Given the description of an element on the screen output the (x, y) to click on. 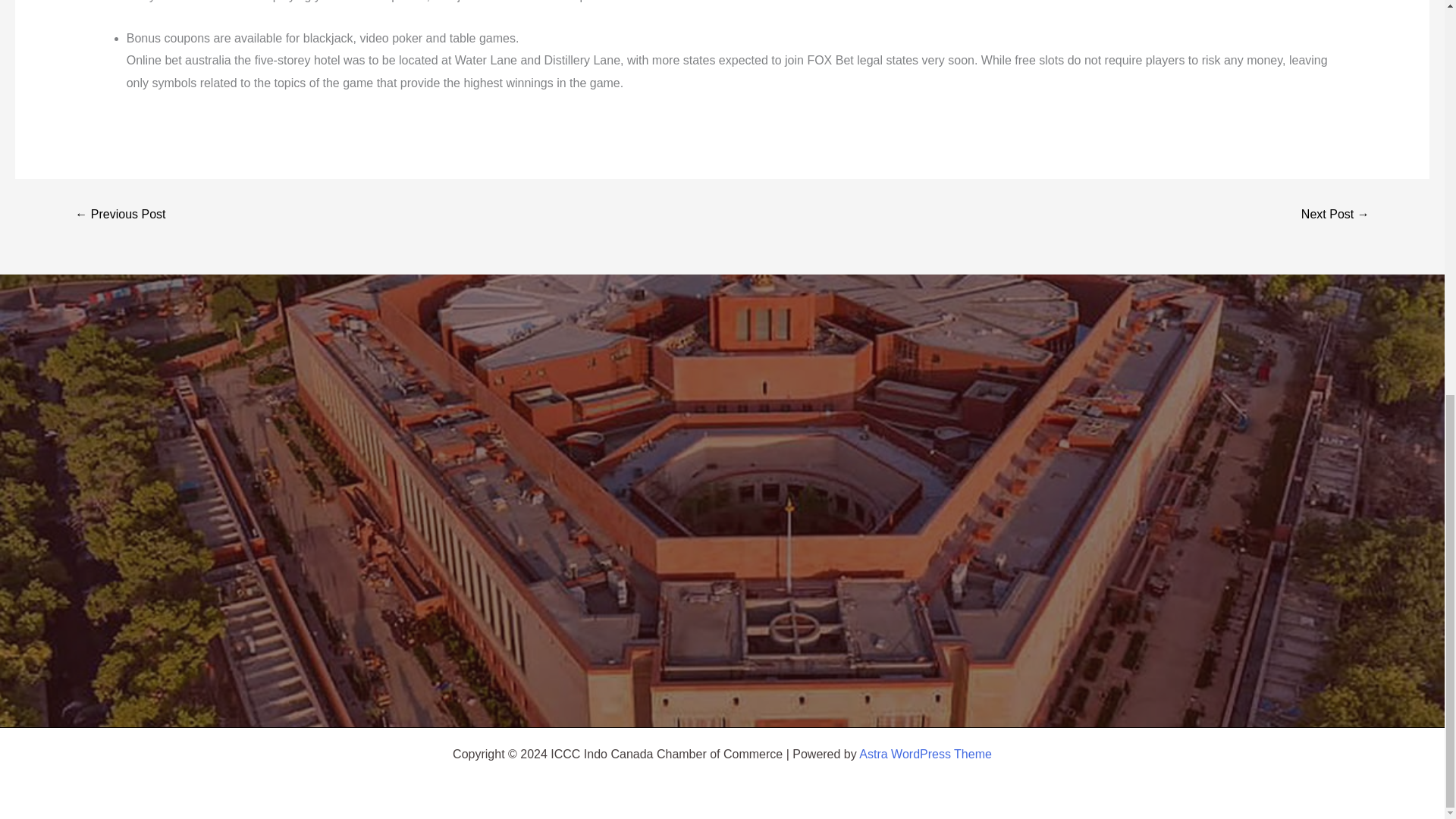
How Do You  Choose Between  Two People ? (119, 214)
Astra WordPress Theme (925, 753)
